Given the description of an element on the screen output the (x, y) to click on. 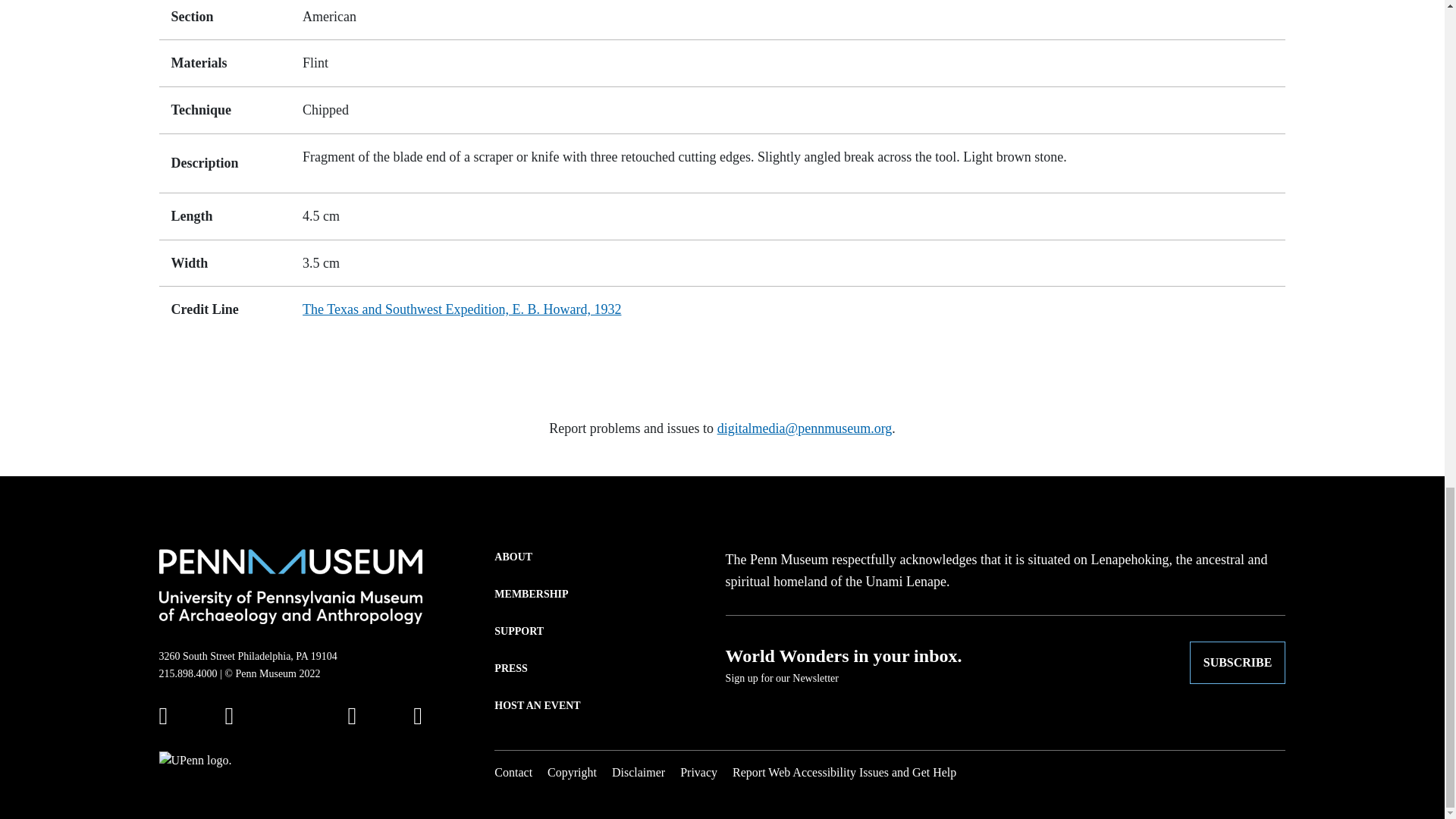
Report Web Accessibility Issues and Get Help (844, 772)
Disclaimer (638, 772)
Copyright (571, 772)
Contact (513, 772)
Privacy (698, 772)
